Given the description of an element on the screen output the (x, y) to click on. 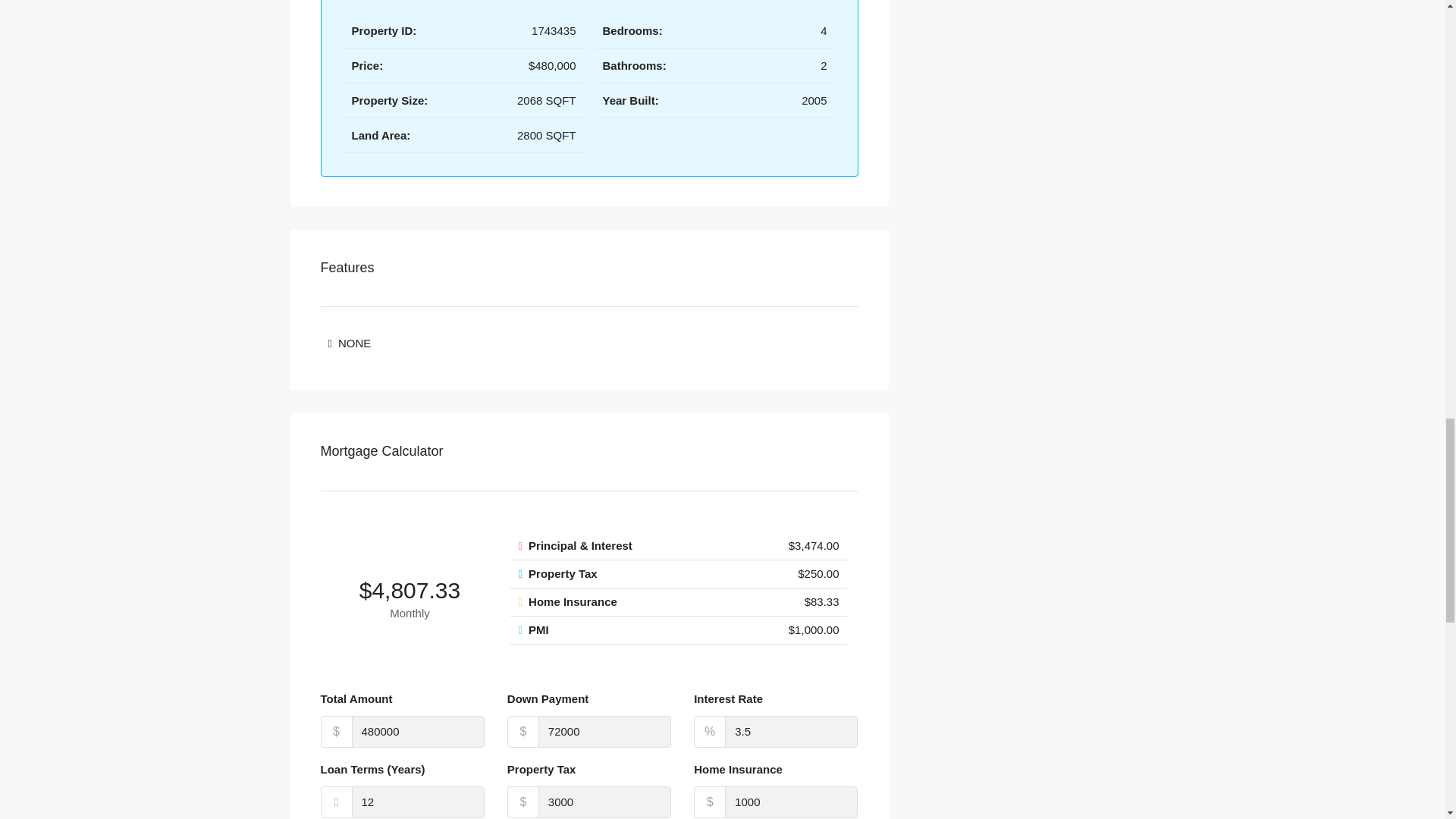
3.5 (791, 731)
3000 (604, 802)
480000 (418, 731)
1000 (791, 802)
12 (418, 802)
72000 (604, 731)
